Given the description of an element on the screen output the (x, y) to click on. 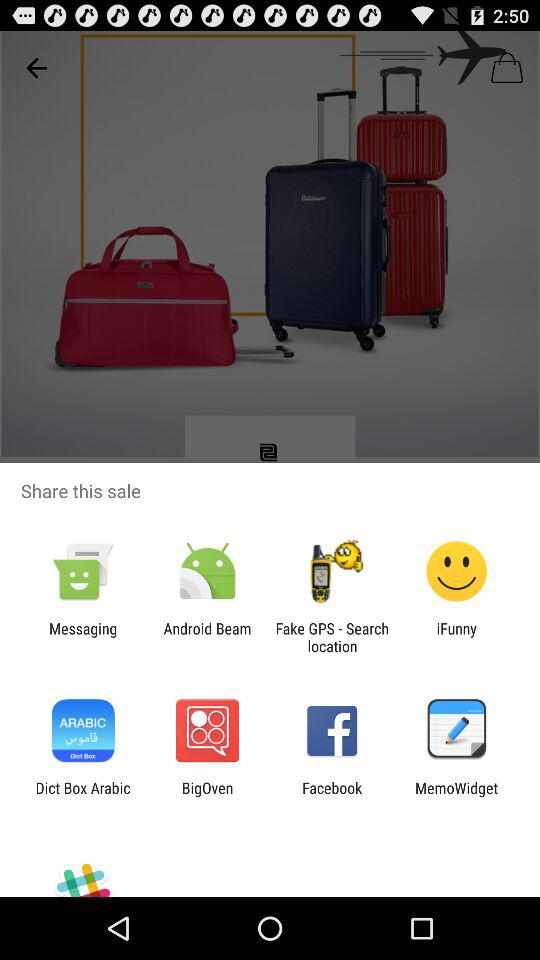
press the item to the right of the dict box arabic app (207, 796)
